Given the description of an element on the screen output the (x, y) to click on. 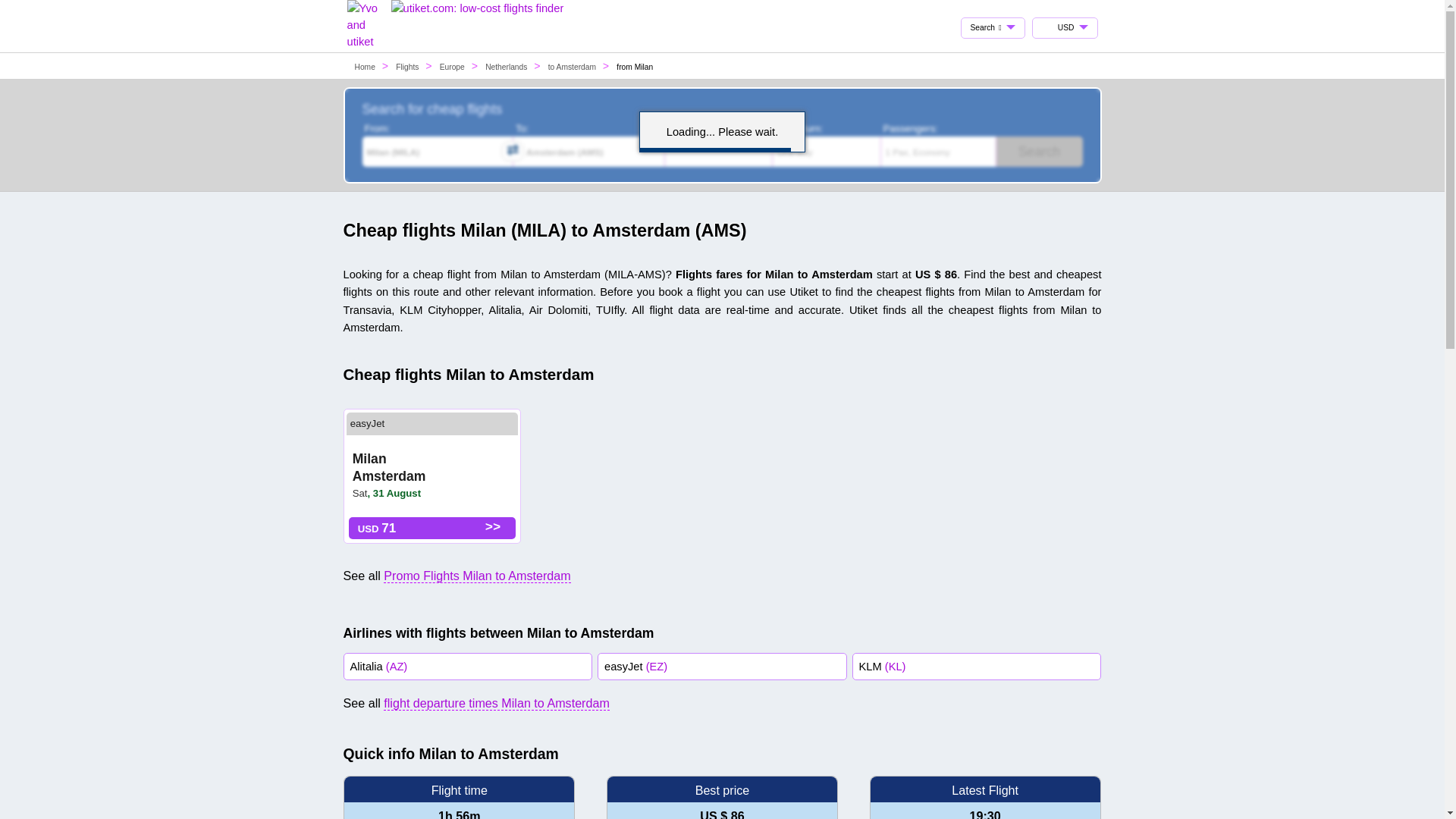
Flights (408, 67)
Netherlands (505, 67)
Search (1039, 151)
Promo Flights Milan to Amsterdam (477, 575)
flight departure times Milan to Amsterdam (497, 703)
1 Pax, Economy (937, 151)
One-way (826, 151)
easyJet (367, 423)
Europe (451, 67)
Home (365, 67)
